Given the description of an element on the screen output the (x, y) to click on. 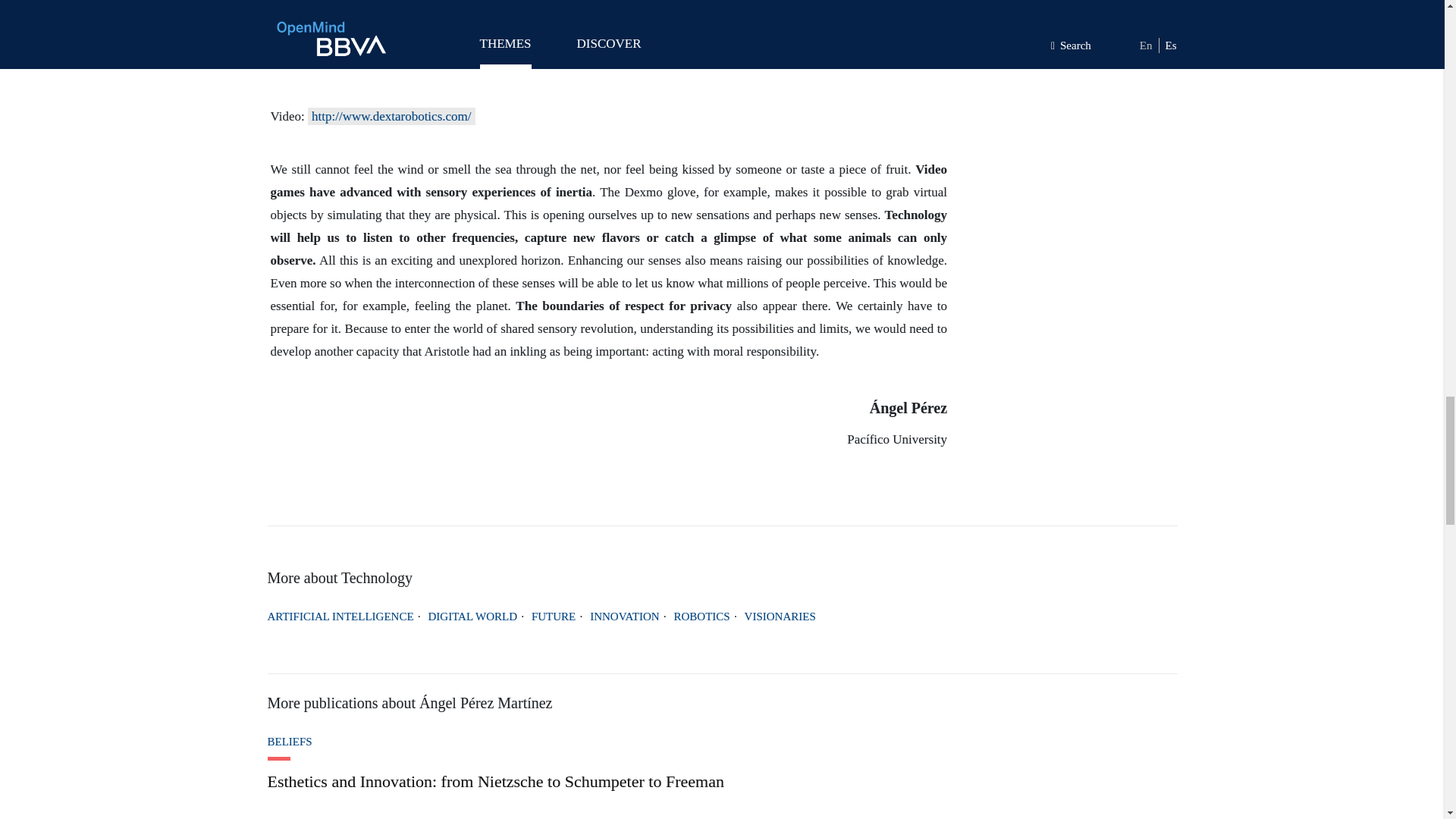
Beliefs (721, 741)
